Given the description of an element on the screen output the (x, y) to click on. 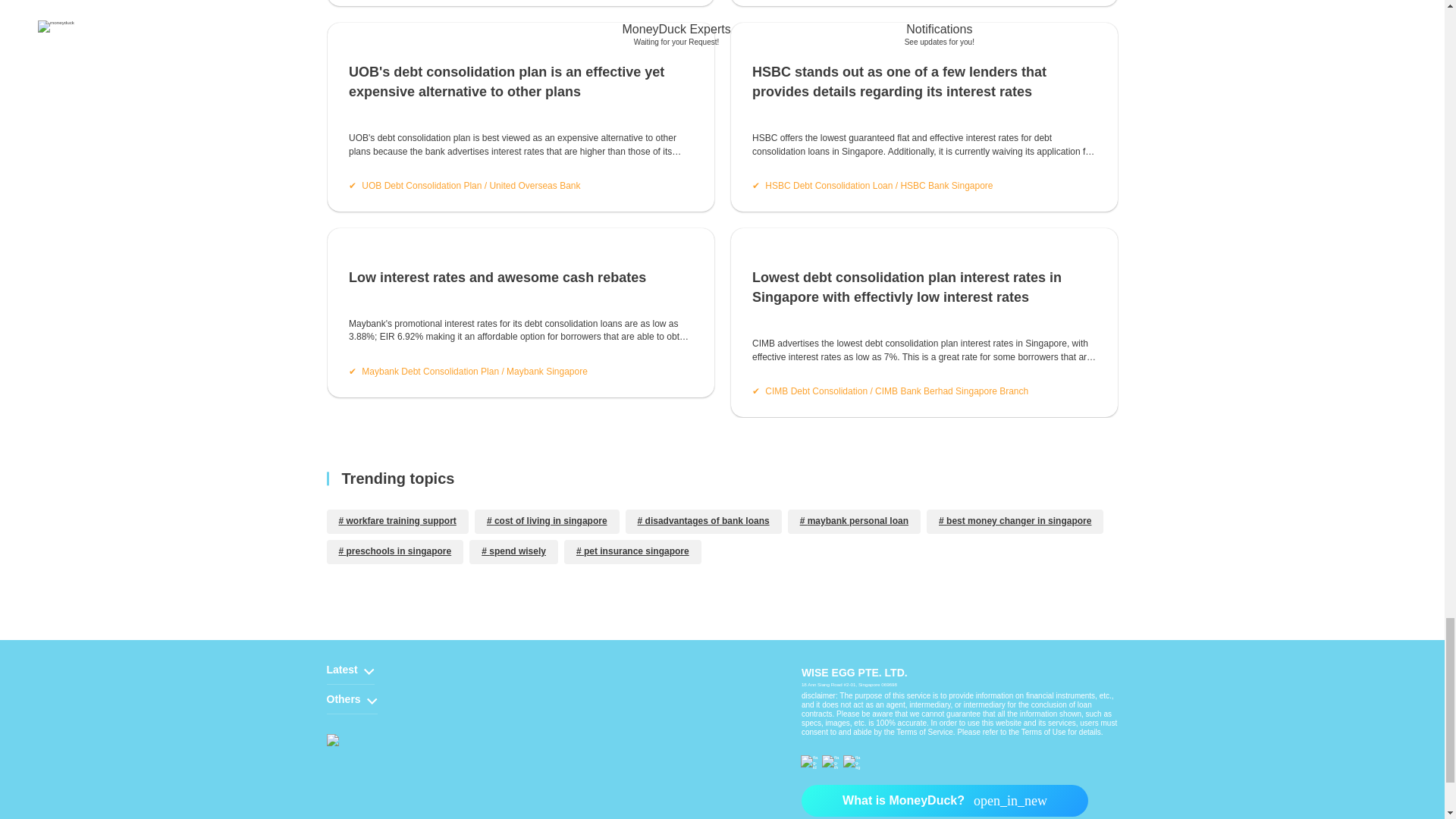
maybank personal loan (853, 399)
workfare training support (396, 399)
disadvantages of bank loans (703, 399)
cost of living in singapore (547, 399)
